Given the description of an element on the screen output the (x, y) to click on. 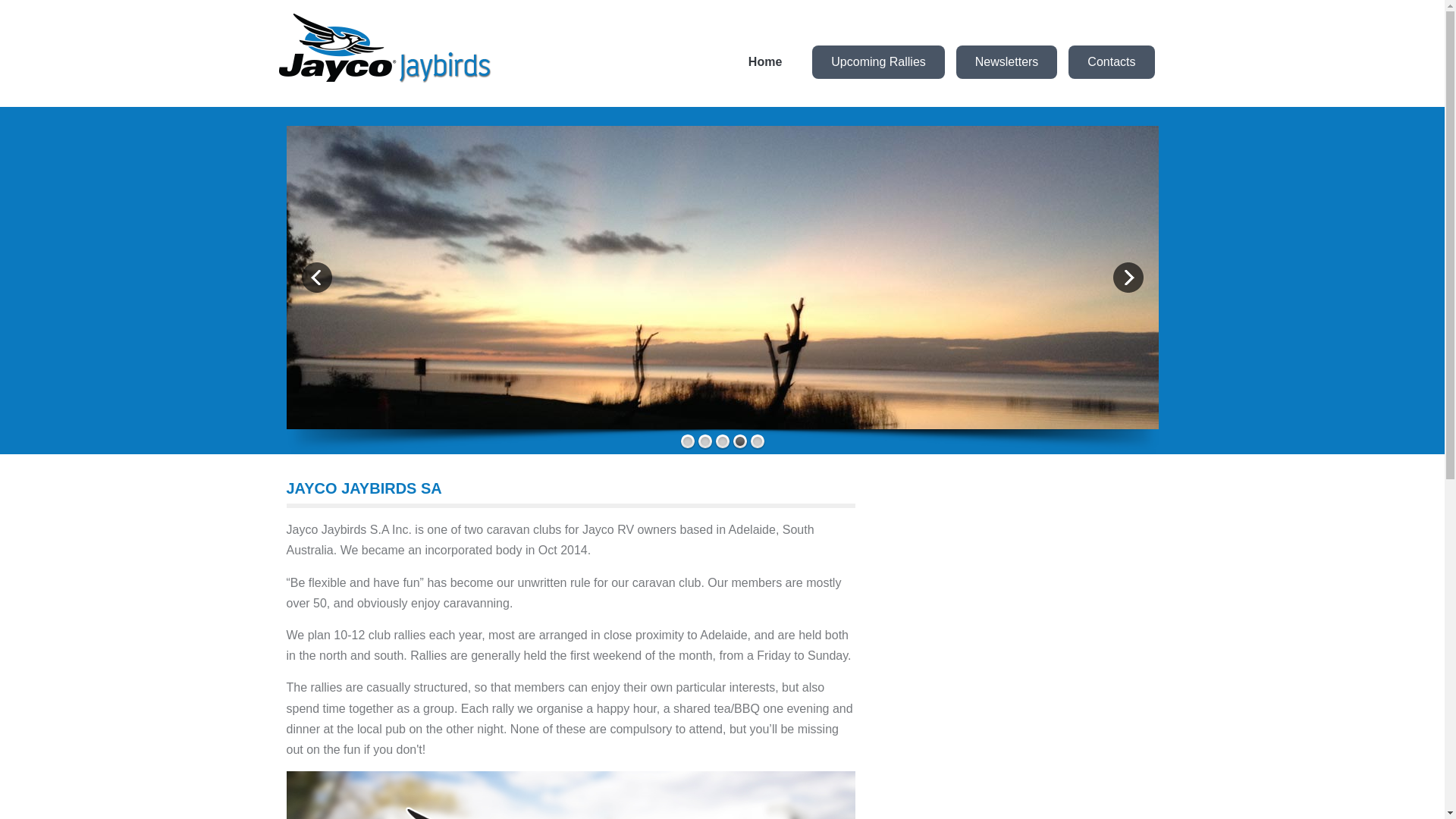
Upcoming Rallies Element type: text (878, 61)
Contacts Element type: text (1111, 61)
Newsletters Element type: text (1006, 61)
Home Element type: text (764, 61)
